Given the description of an element on the screen output the (x, y) to click on. 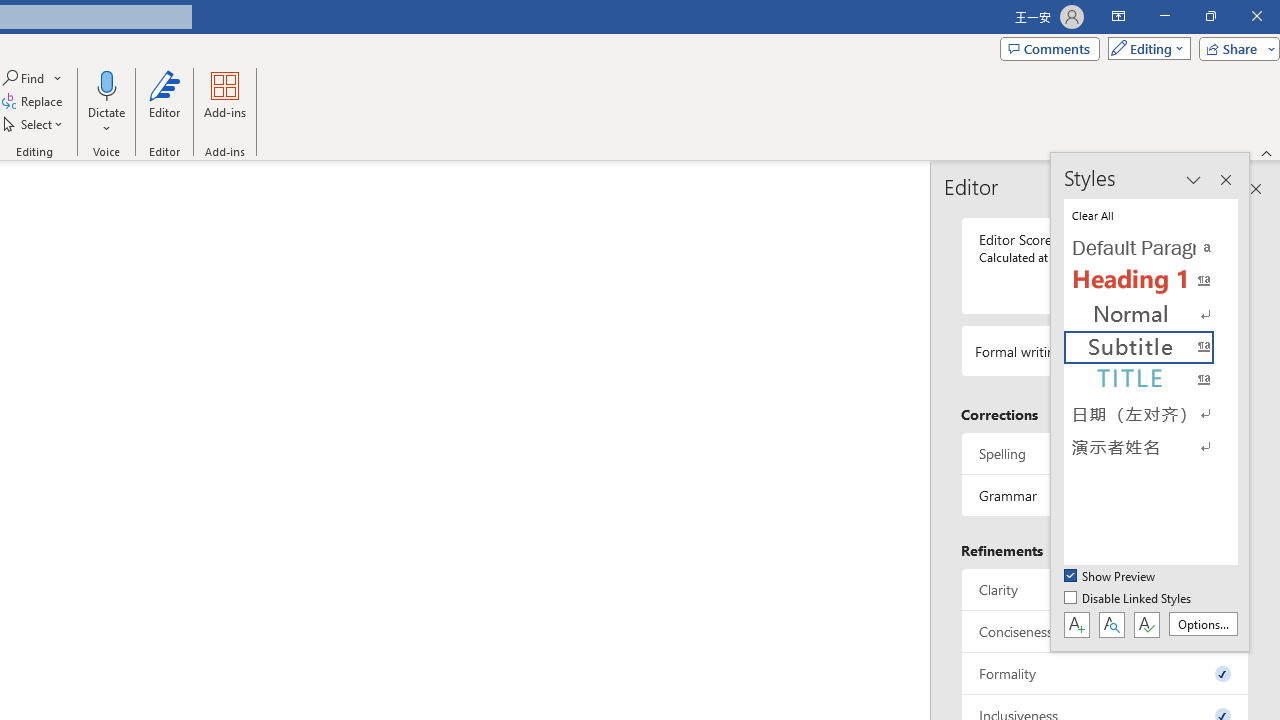
Clear All (1150, 214)
Formality, 0 issues. Press space or enter to review items. (1105, 673)
Normal (1150, 314)
Disable Linked Styles (1129, 599)
Options... (1202, 623)
